Given the description of an element on the screen output the (x, y) to click on. 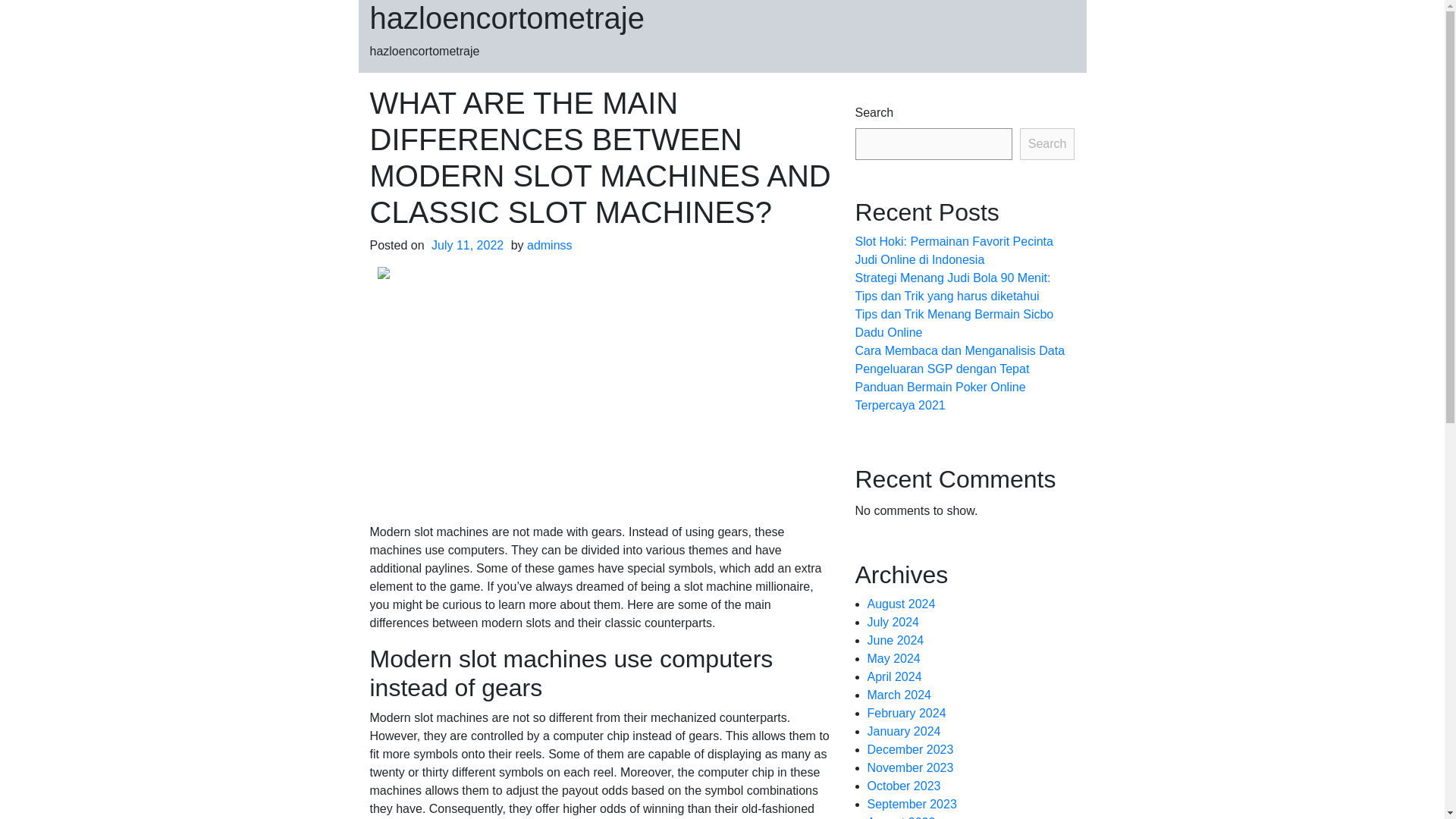
September 2023 (911, 803)
July 2024 (893, 621)
August 2023 (901, 817)
hazloencortometraje (507, 18)
November 2023 (910, 767)
January 2024 (903, 730)
December 2023 (910, 748)
adminss (549, 245)
October 2023 (903, 785)
